Given the description of an element on the screen output the (x, y) to click on. 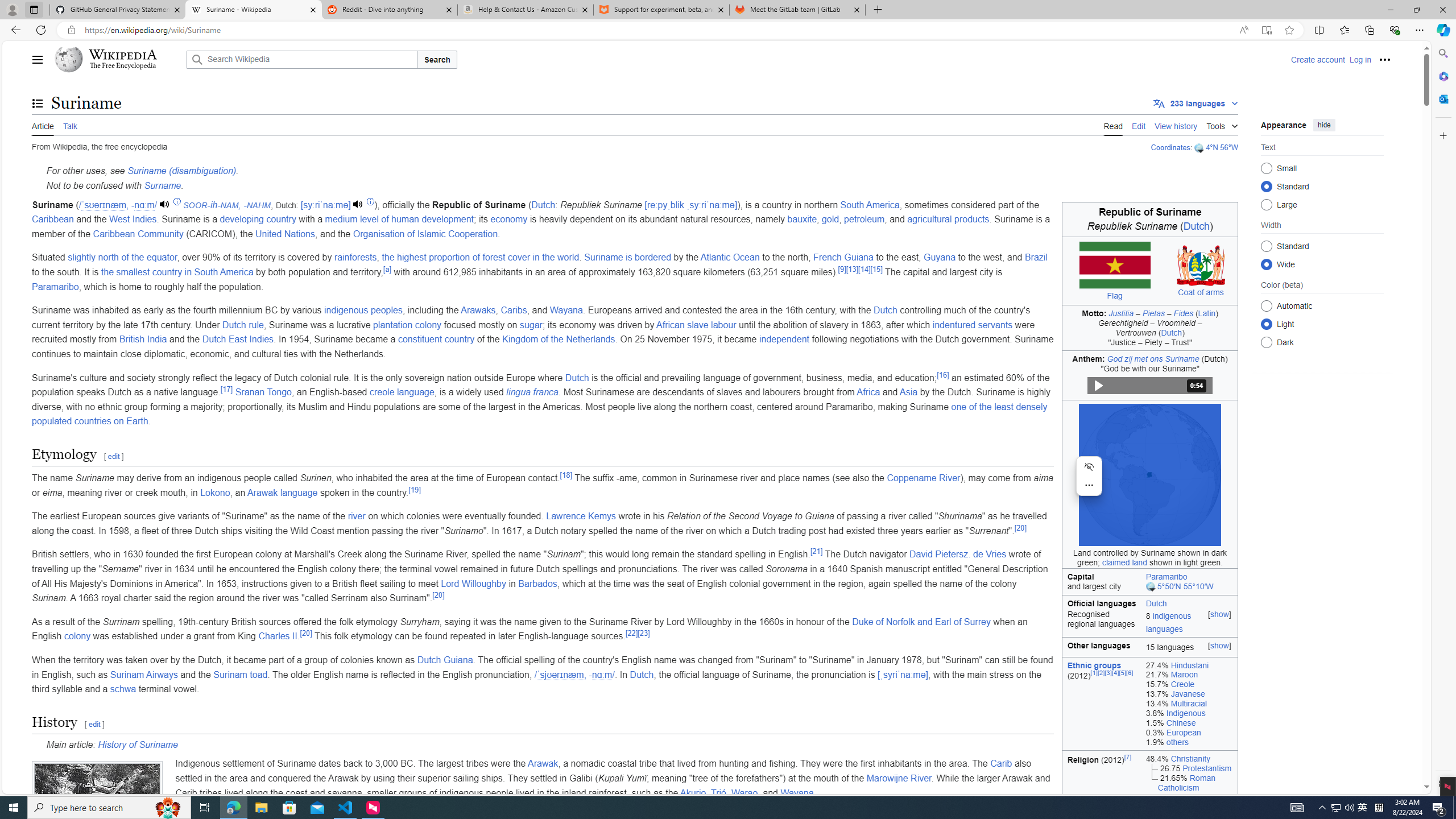
Hinduism (1187, 796)
Maroon (1184, 674)
independent (783, 339)
History of Suriname (137, 744)
Talk (69, 124)
[16] (942, 374)
slightly north of the equator (121, 257)
Main menu (37, 59)
